Given the description of an element on the screen output the (x, y) to click on. 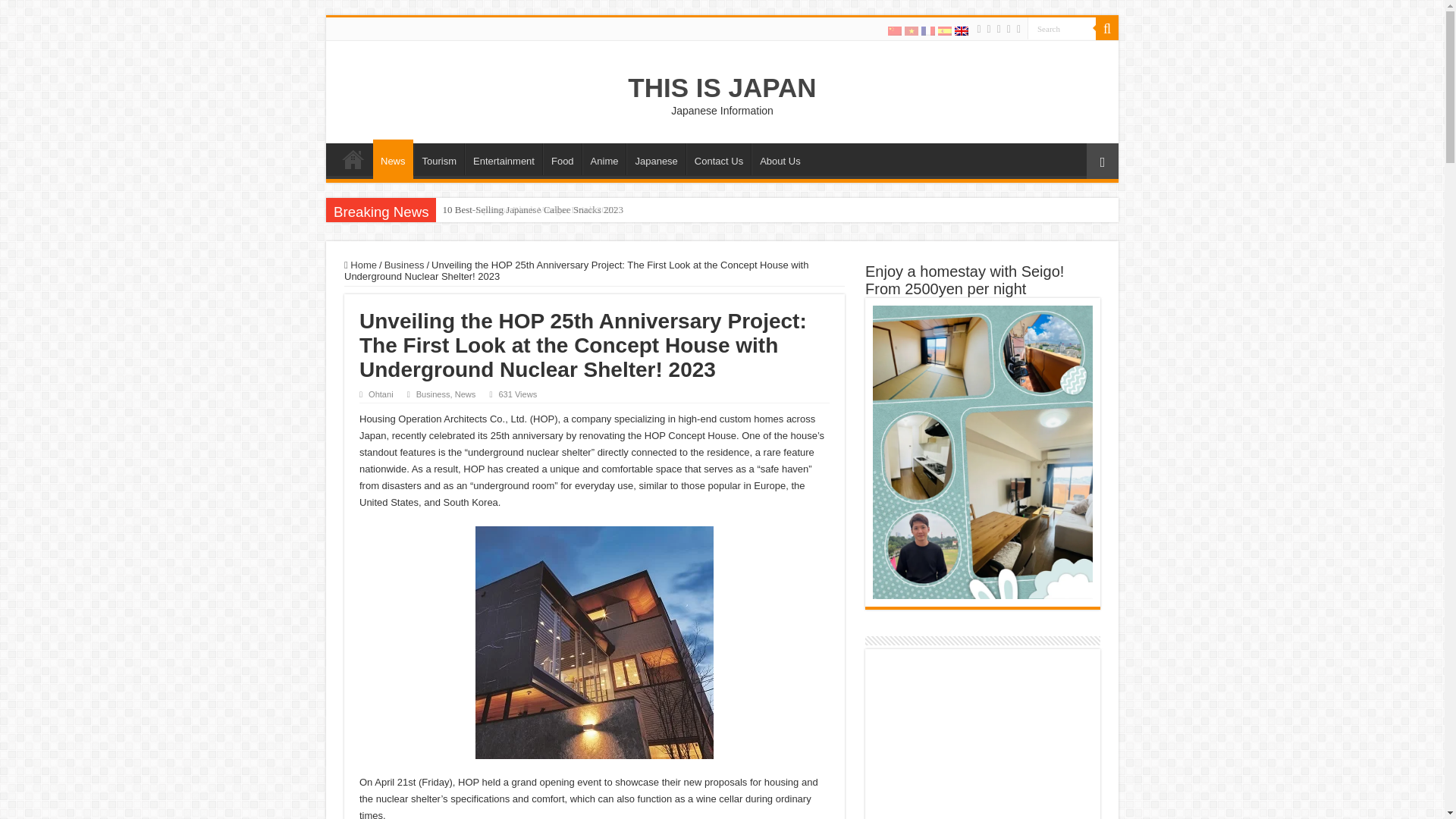
About Us (779, 159)
Tourism (438, 159)
Food (561, 159)
Home (352, 159)
Search (1061, 28)
Contact Us (718, 159)
Search (1061, 28)
Japanese (655, 159)
News (392, 159)
Anime (604, 159)
Entertainment (502, 159)
THIS IS JAPAN (721, 87)
Search (1061, 28)
Search (1107, 28)
